Given the description of an element on the screen output the (x, y) to click on. 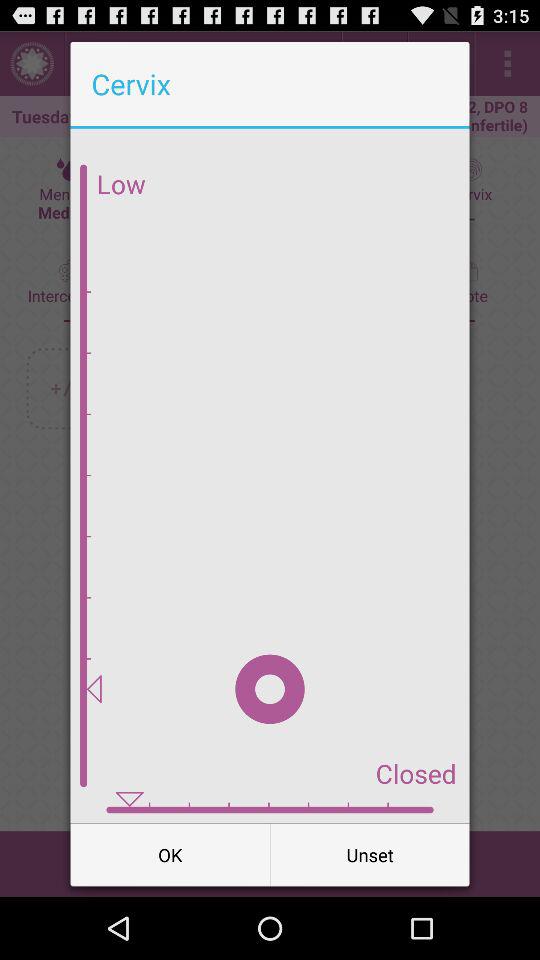
swipe to unset (369, 854)
